Given the description of an element on the screen output the (x, y) to click on. 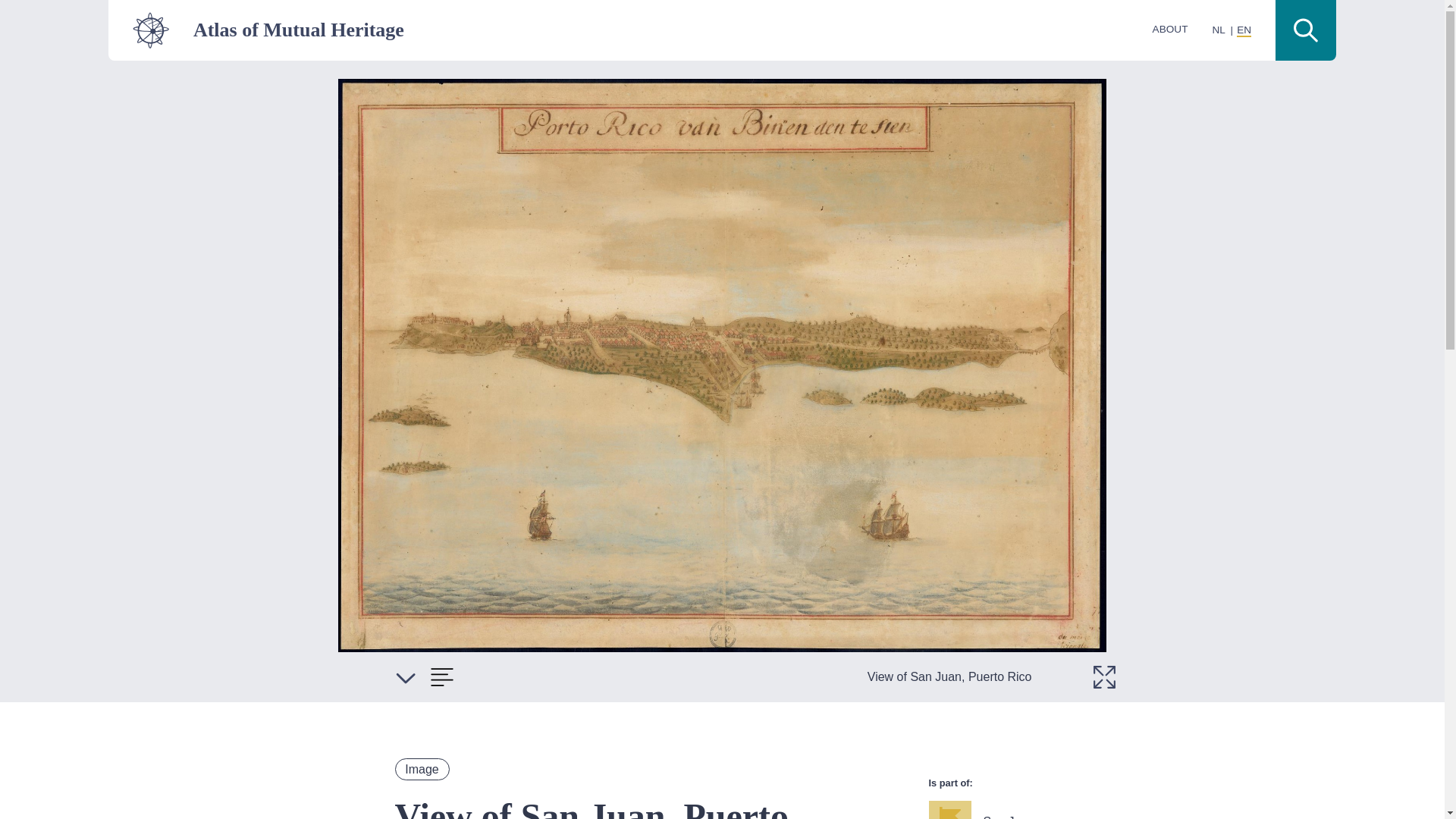
EN (1243, 30)
description (405, 677)
NL (1218, 30)
San Juan (1022, 809)
description (441, 677)
ABOUT (1170, 29)
